Given the description of an element on the screen output the (x, y) to click on. 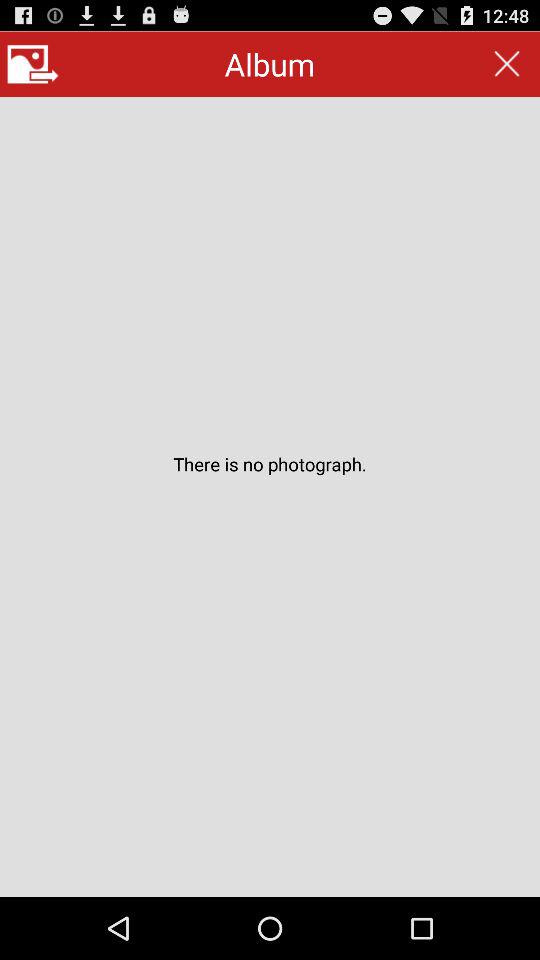
select main menu (32, 64)
